Given the description of an element on the screen output the (x, y) to click on. 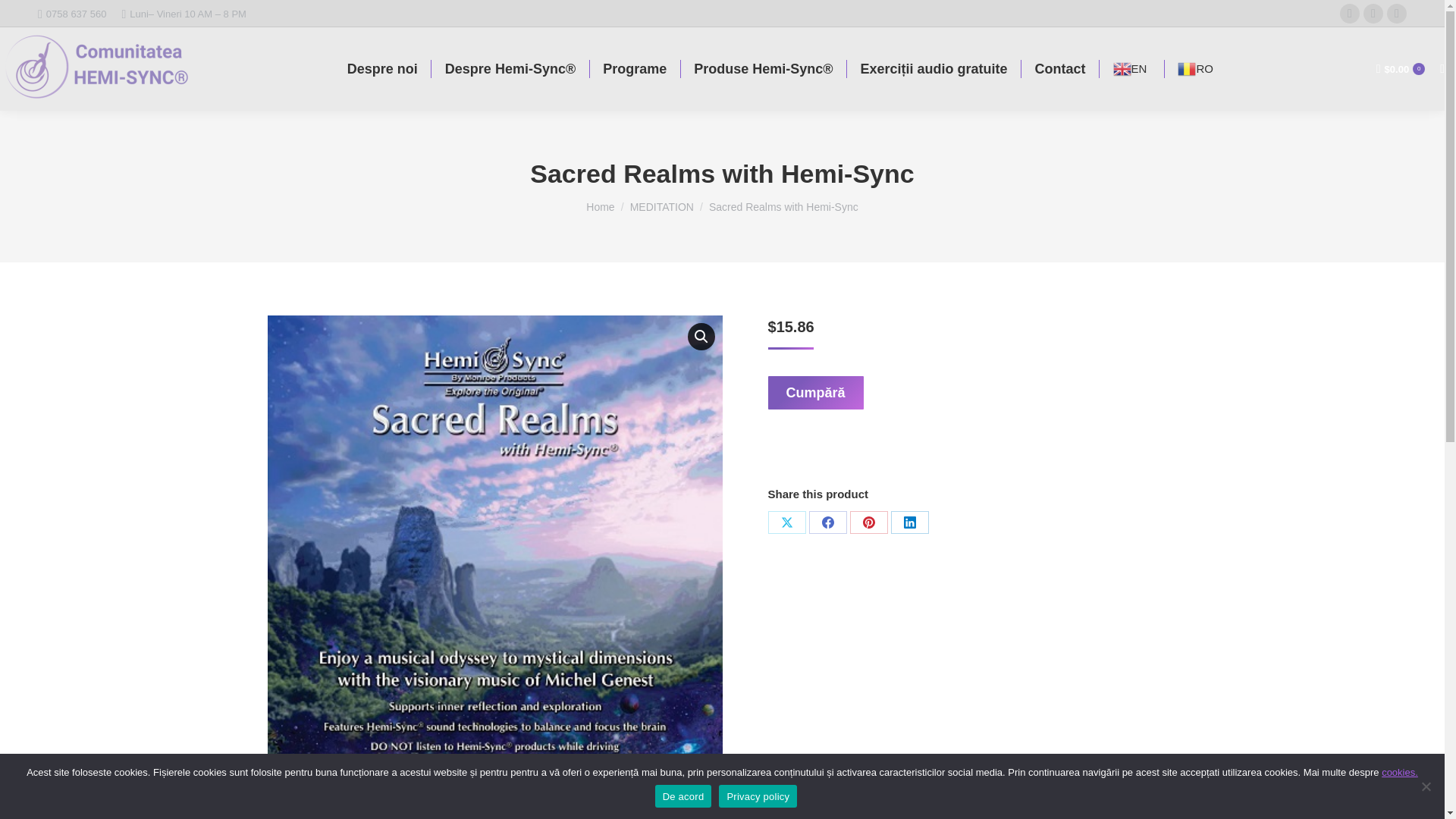
Home (600, 206)
Instagram page opens in new window (1372, 13)
MEDITATION (662, 206)
Despre noi (381, 68)
Contact (1060, 68)
YouTube page opens in new window (1396, 13)
Instagram page opens in new window (1372, 13)
Go! (24, 16)
Facebook page opens in new window (1349, 13)
YouTube page opens in new window (1396, 13)
Facebook page opens in new window (1349, 13)
Programe (634, 68)
